Given the description of an element on the screen output the (x, y) to click on. 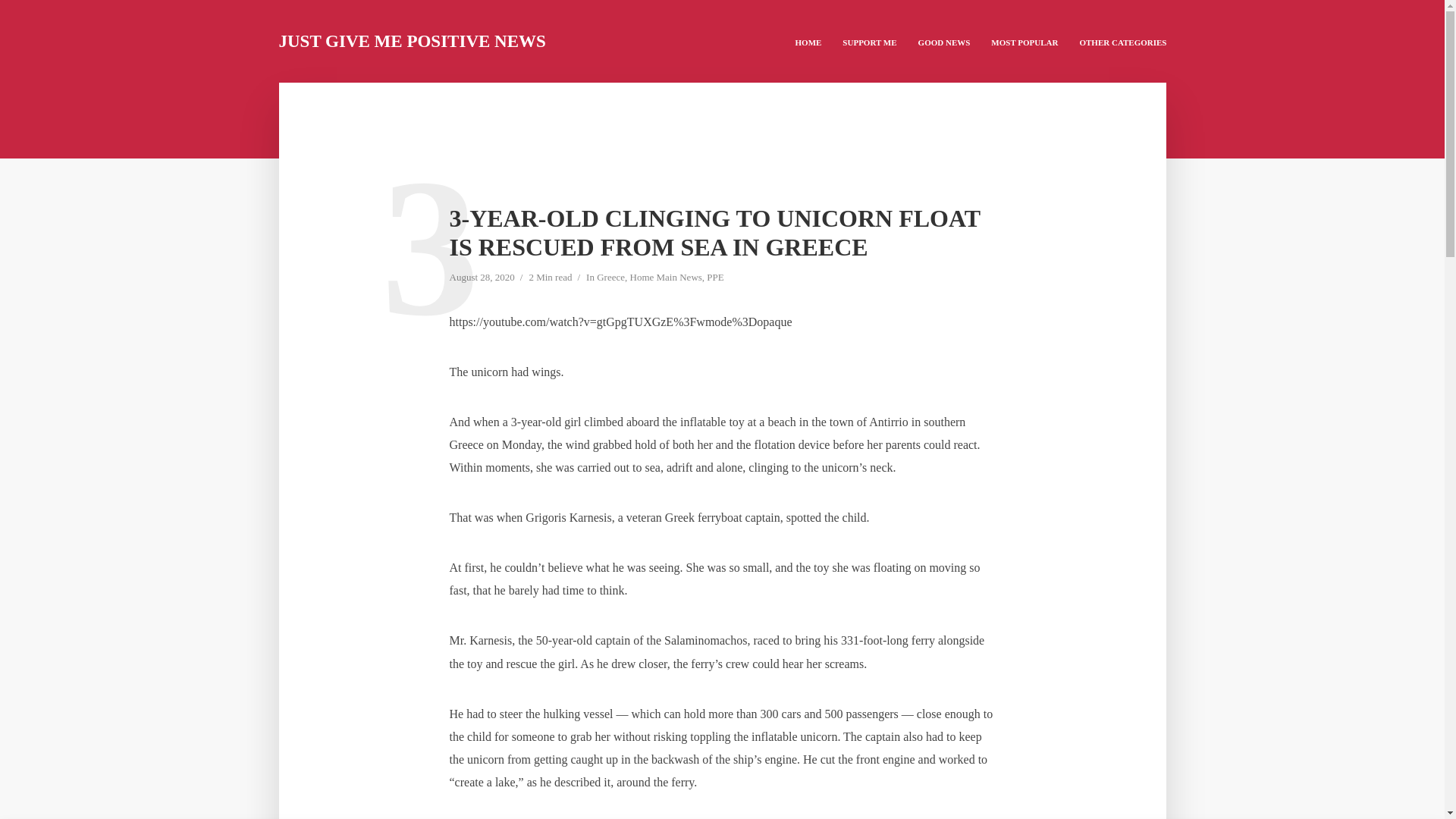
GOOD NEWS (944, 41)
Greece (610, 278)
OTHER CATEGORIES (1122, 41)
JUST GIVE ME POSITIVE NEWS (412, 40)
PPE (714, 278)
MOST POPULAR (1023, 41)
SUPPORT ME (869, 41)
HOME (808, 41)
Home Main News (665, 278)
